Given the description of an element on the screen output the (x, y) to click on. 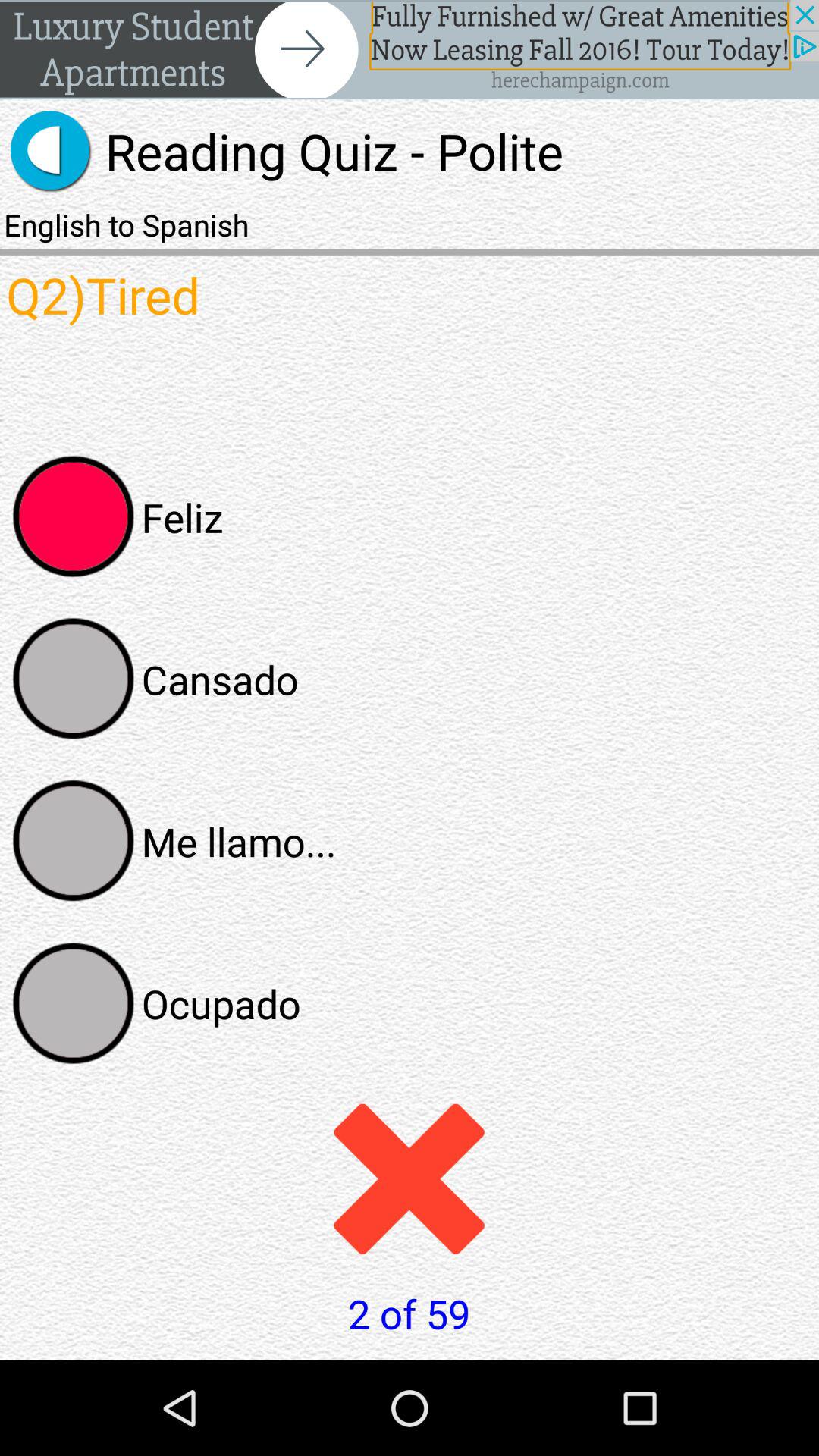
select option (73, 1003)
